Given the description of an element on the screen output the (x, y) to click on. 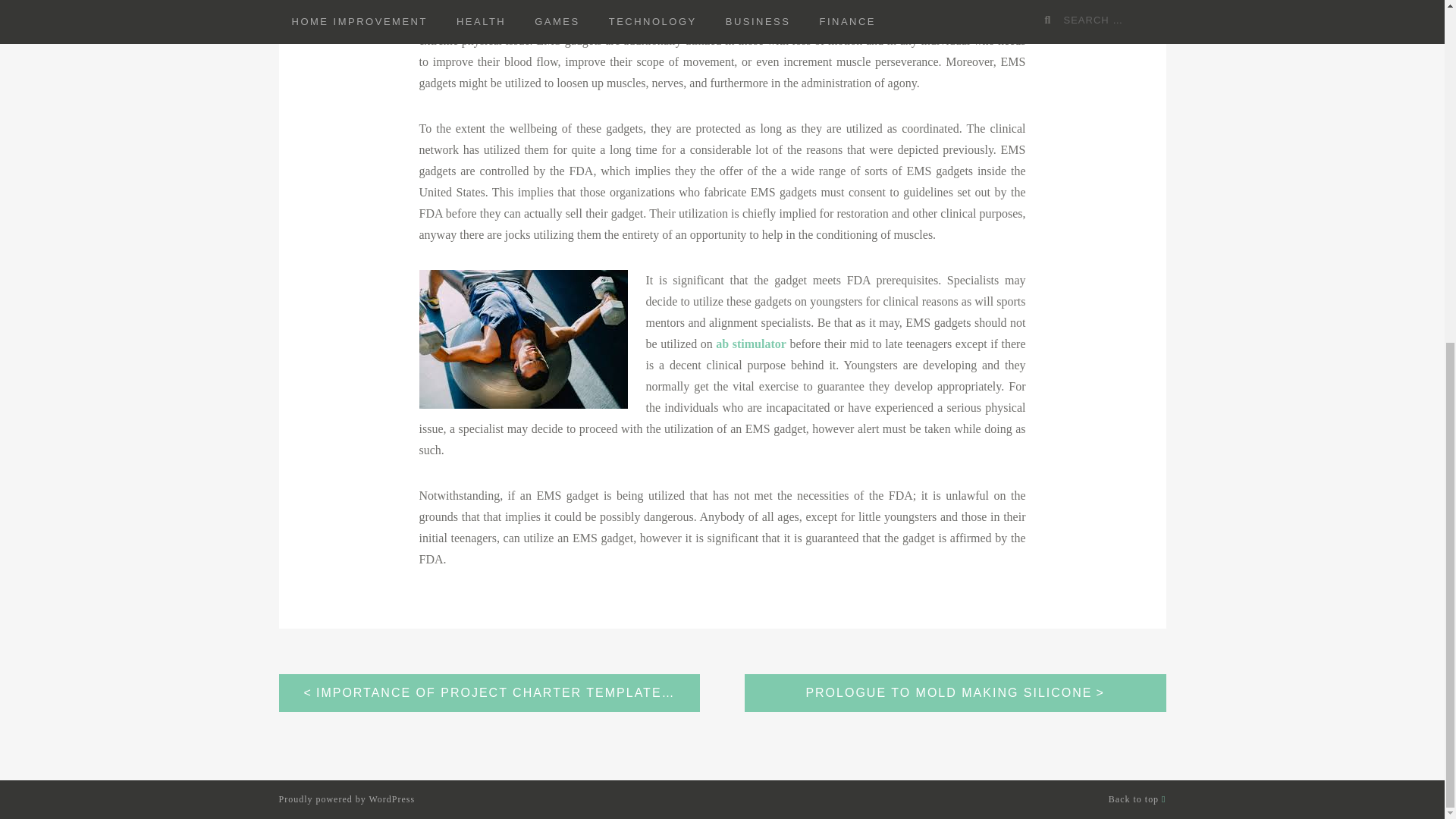
IMPORTANCE OF PROJECT CHARTER TEMPLATE IN PROJECT MANAGEMENT (489, 692)
Back to top (1137, 798)
PROLOGUE TO MOLD MAKING SILICONE (955, 692)
ab stimulator (751, 342)
